Given the description of an element on the screen output the (x, y) to click on. 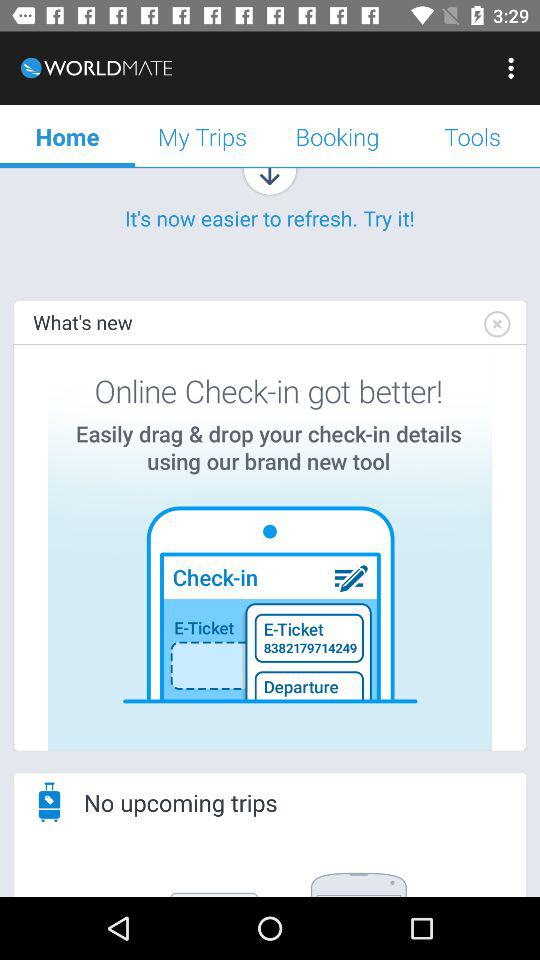
close tap (496, 323)
